Given the description of an element on the screen output the (x, y) to click on. 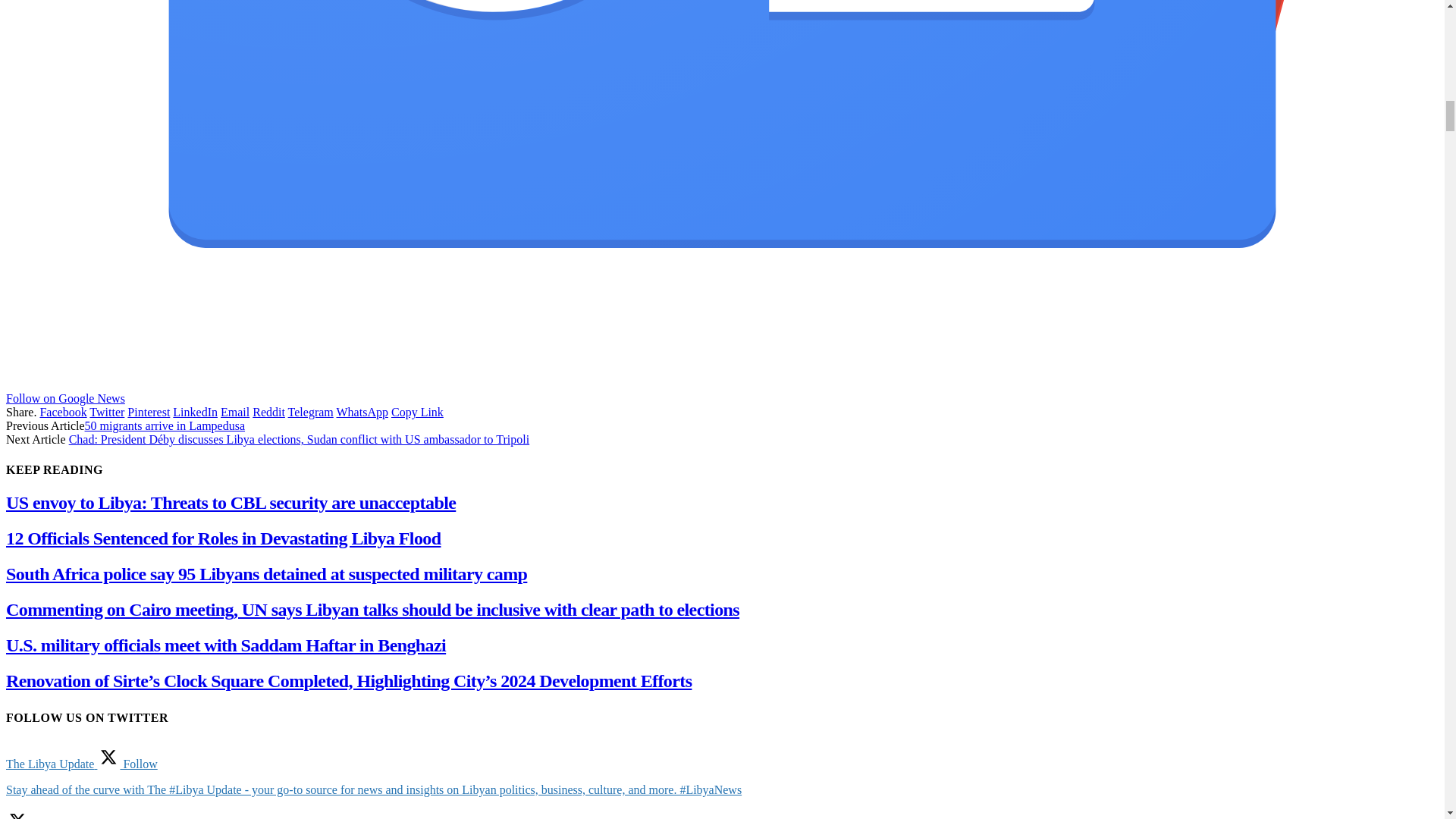
Share on LinkedIn (194, 411)
Share on Facebook (62, 411)
Share on Pinterest (149, 411)
Share via Email (234, 411)
